Given the description of an element on the screen output the (x, y) to click on. 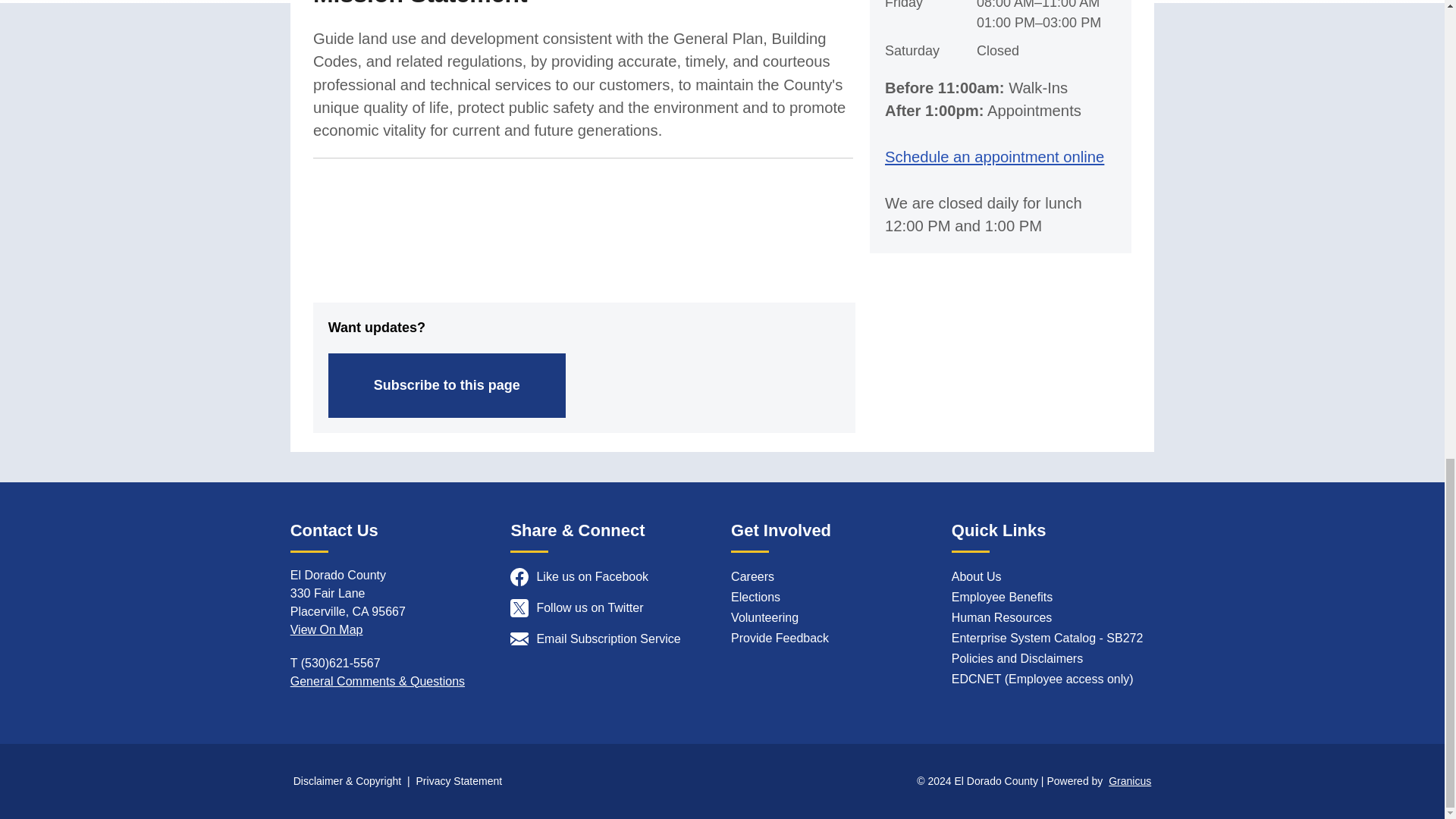
Subscribe to this page (447, 384)
View On Map (325, 629)
